Given the description of an element on the screen output the (x, y) to click on. 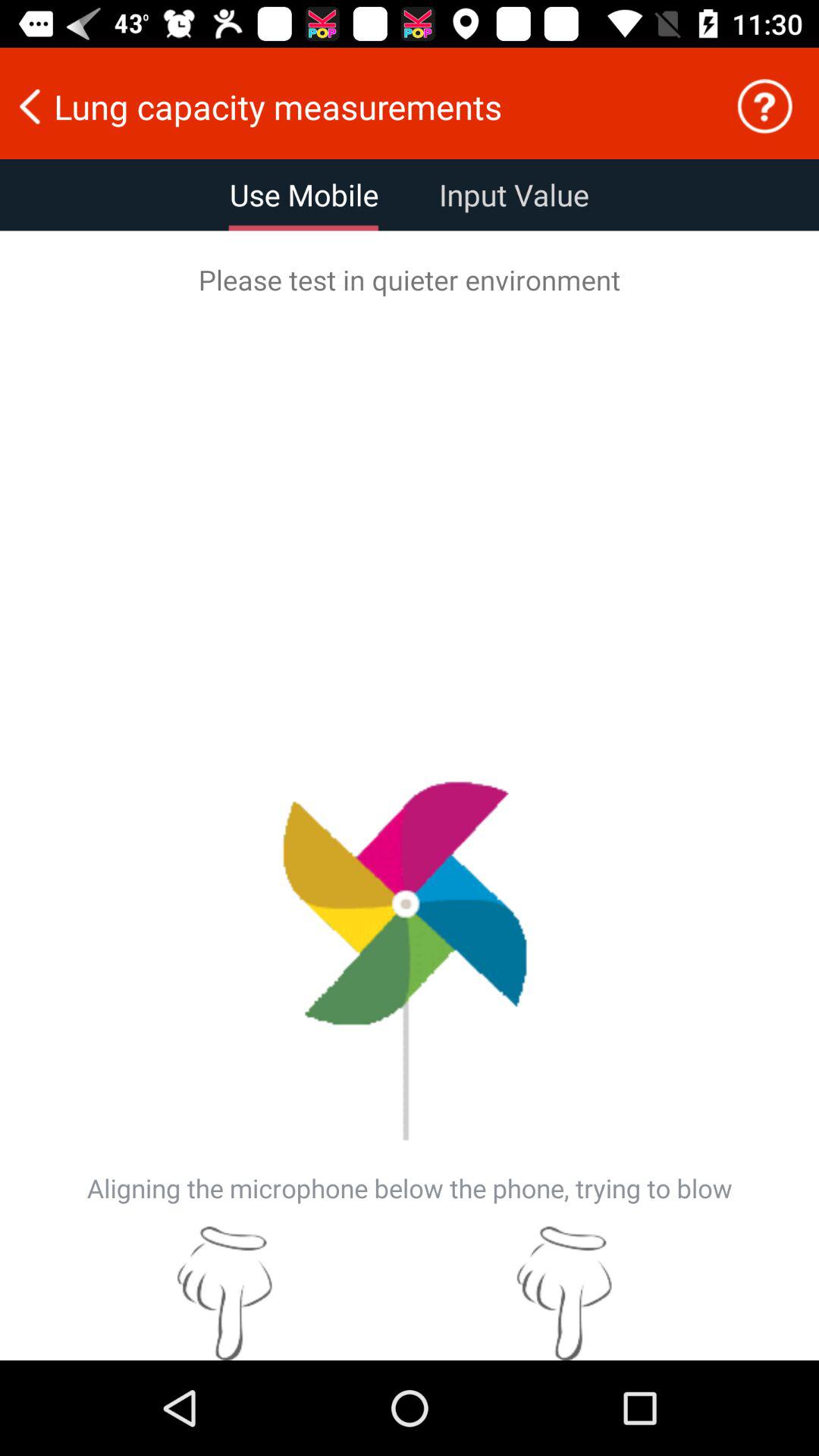
click the item next to input value item (303, 194)
